Given the description of an element on the screen output the (x, y) to click on. 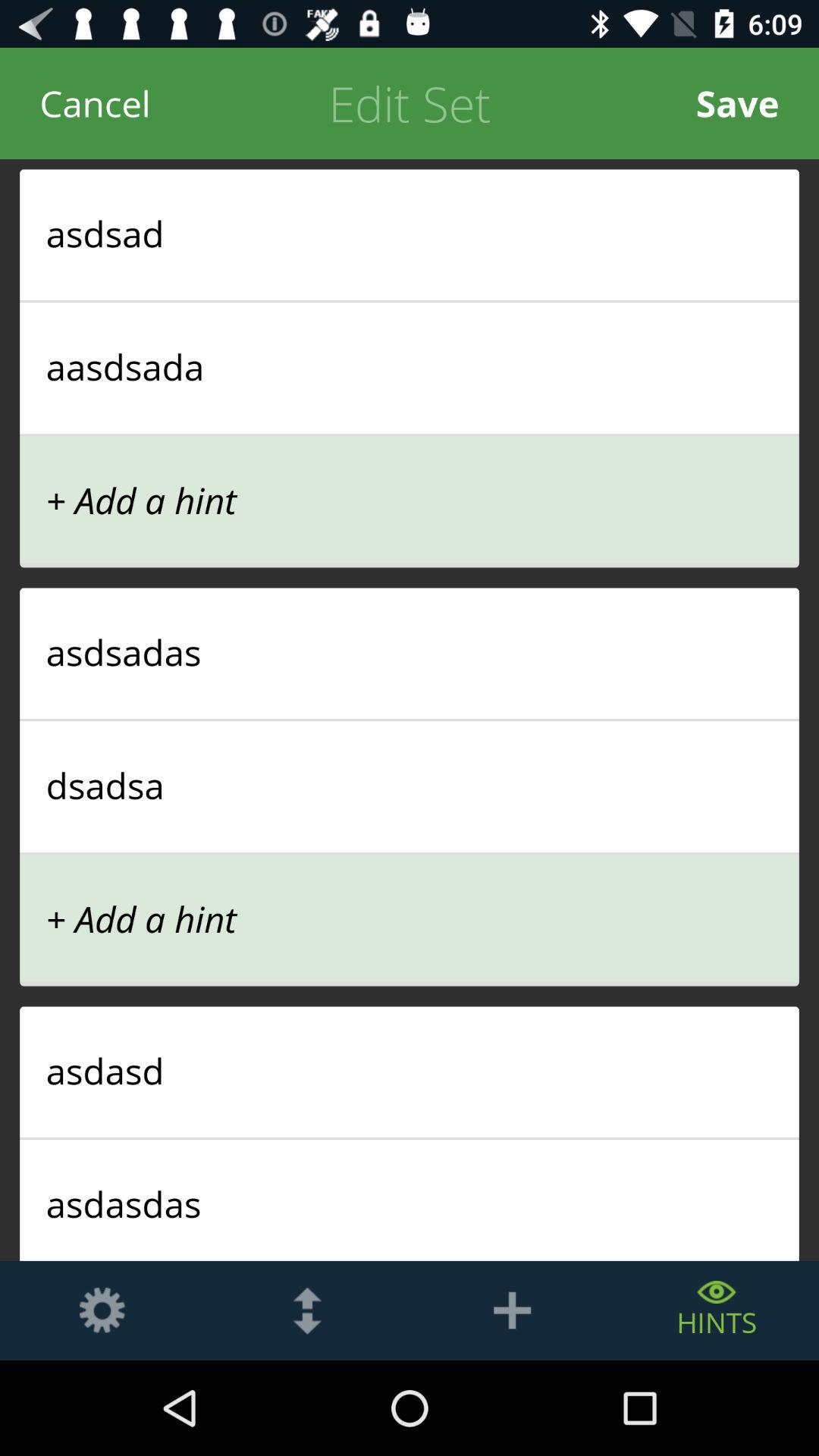
scrolls up or down (306, 1310)
